Given the description of an element on the screen output the (x, y) to click on. 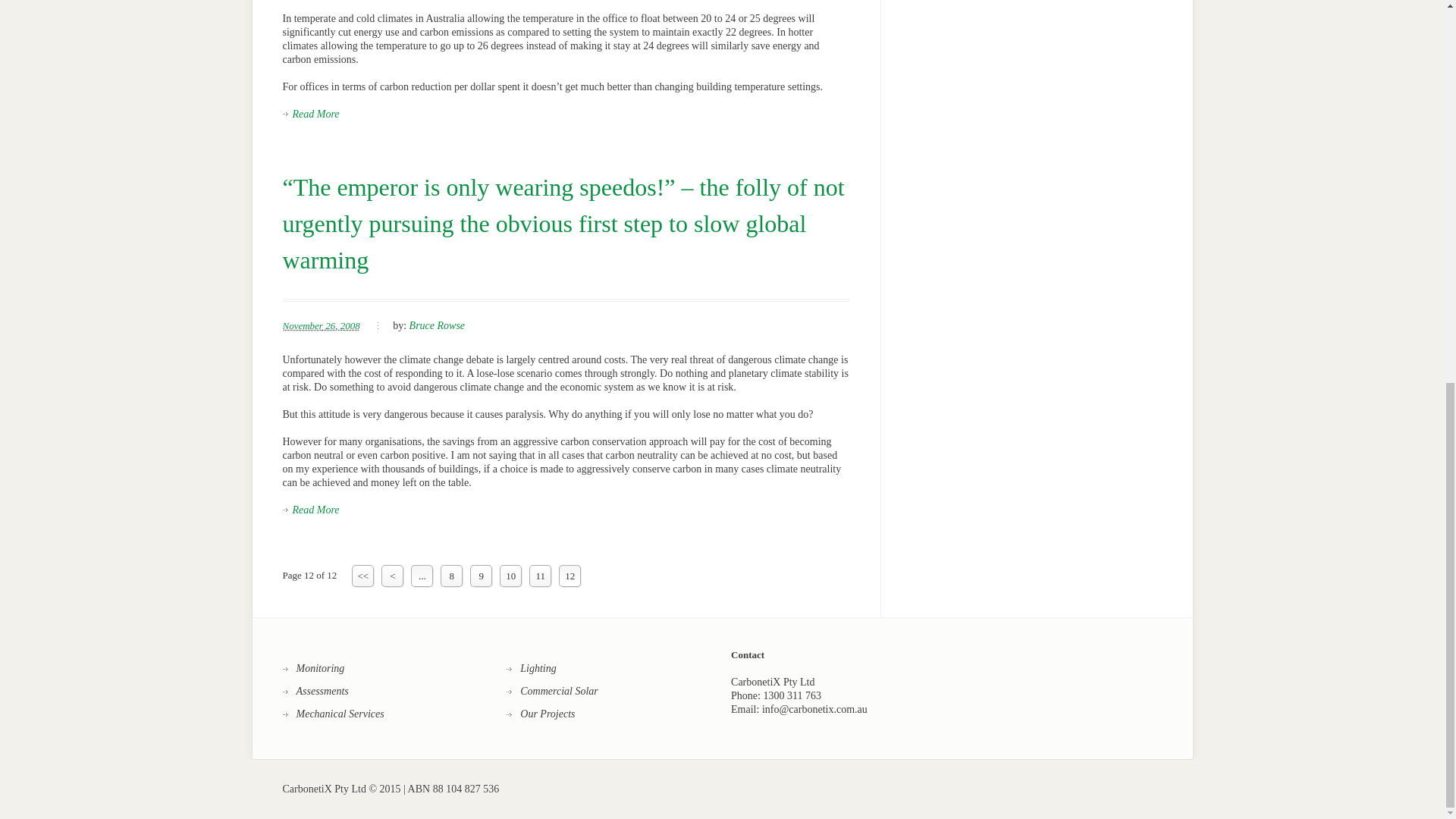
10 (510, 576)
Read More (310, 113)
8 (452, 576)
9 (481, 576)
10 (510, 576)
Monitoring (312, 668)
11 (540, 576)
Our Projects (540, 714)
26 (329, 325)
Mechanical Services (333, 714)
Posts by Bruce Rowse (436, 325)
Assessments (314, 691)
8 (452, 576)
November (301, 325)
Bruce Rowse (436, 325)
